Given the description of an element on the screen output the (x, y) to click on. 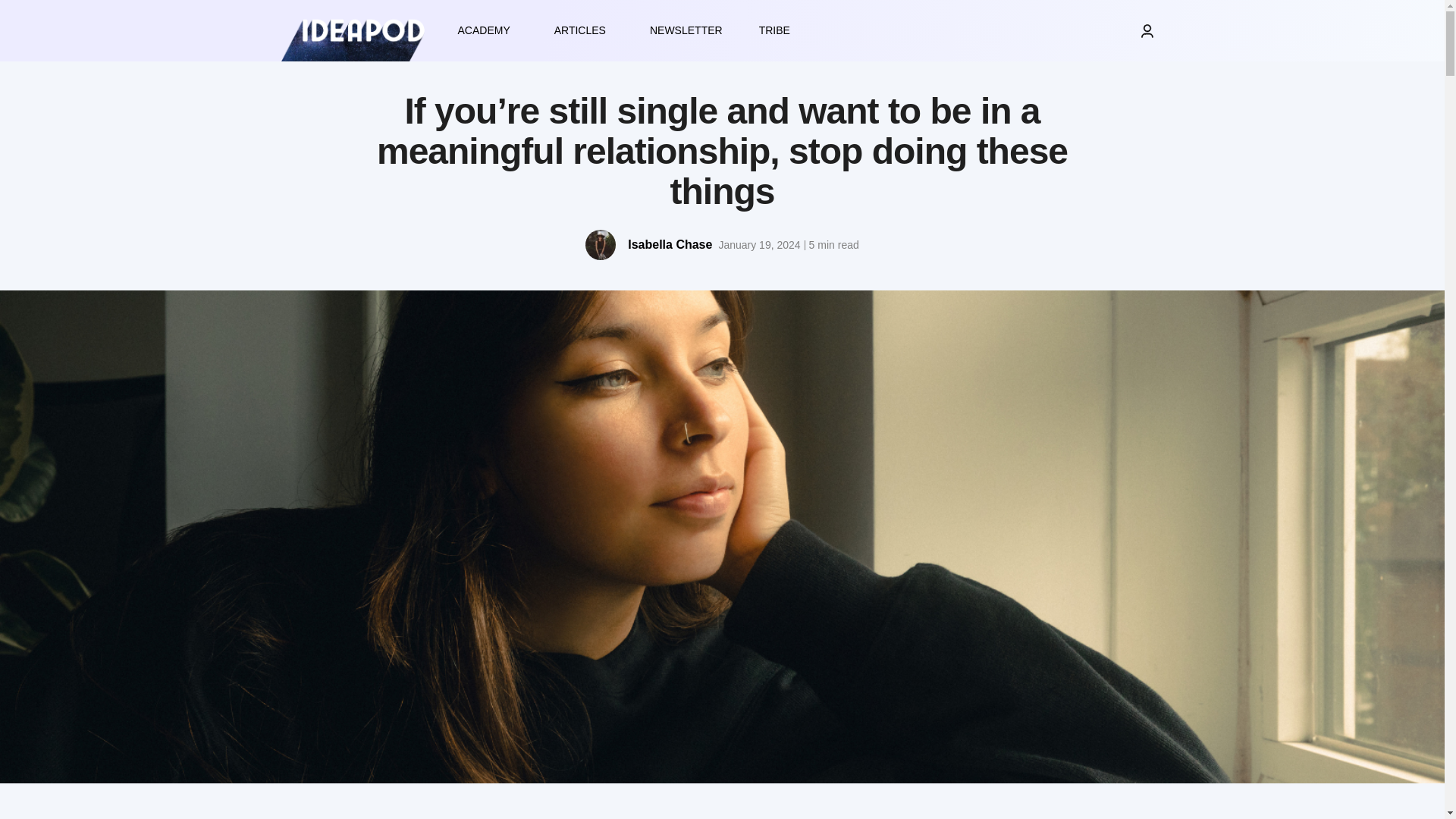
ACADEMY (487, 30)
NEWSLETTER (686, 30)
ARTICLES (583, 30)
